Given the description of an element on the screen output the (x, y) to click on. 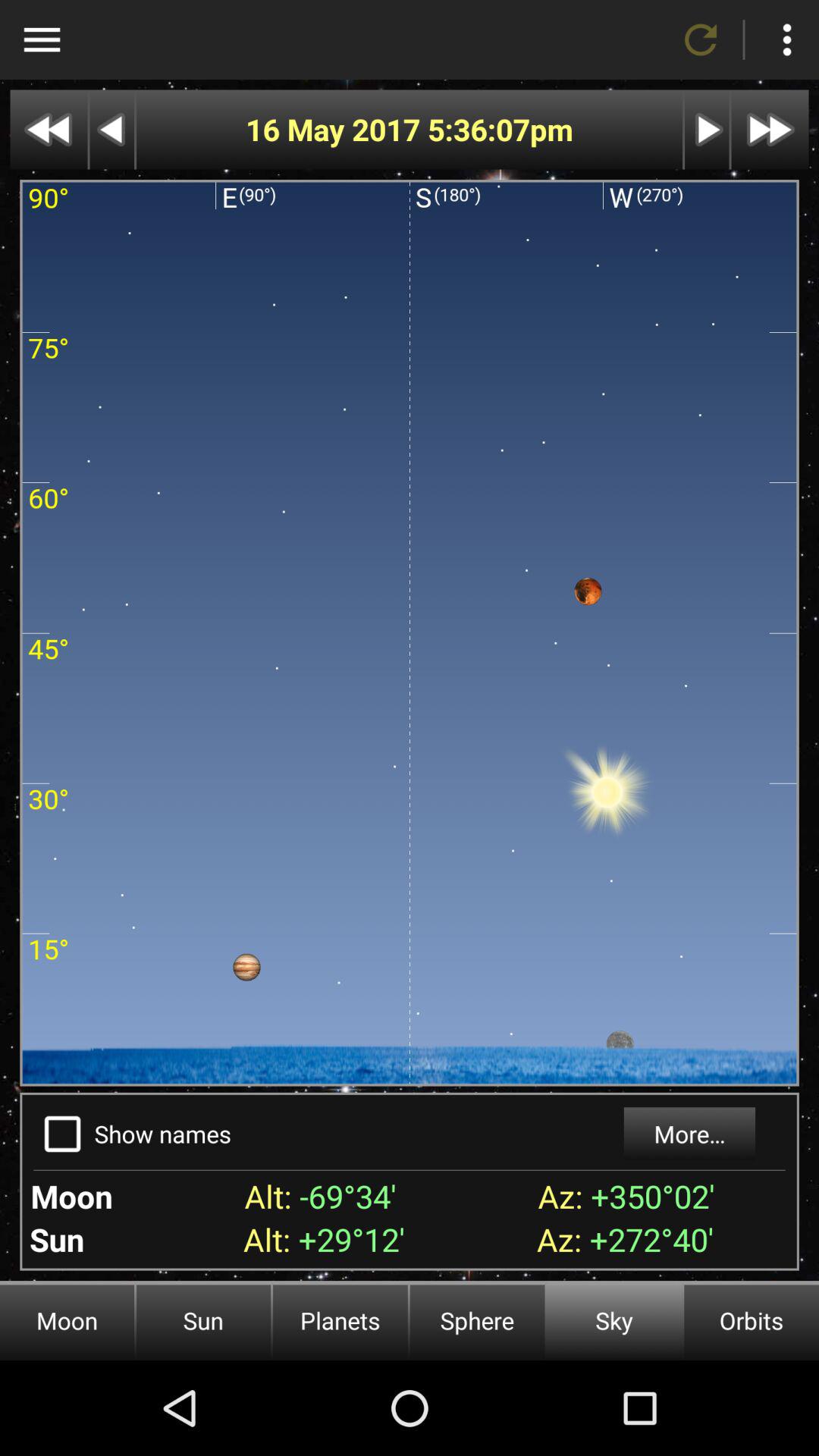
choose the item next to the 16 may 2017  app (478, 129)
